Given the description of an element on the screen output the (x, y) to click on. 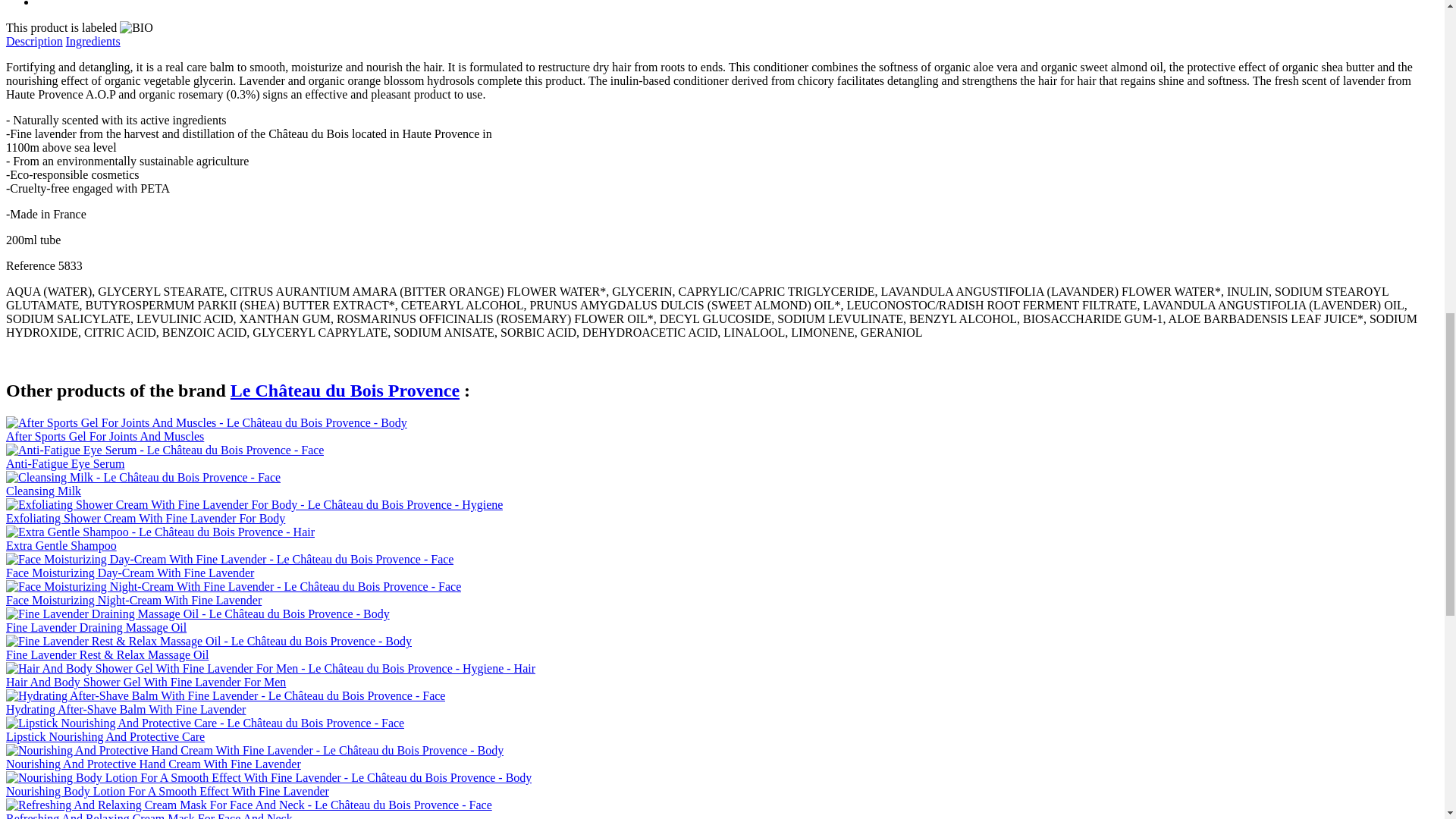
Ingredients (92, 41)
Description (33, 41)
